Given the description of an element on the screen output the (x, y) to click on. 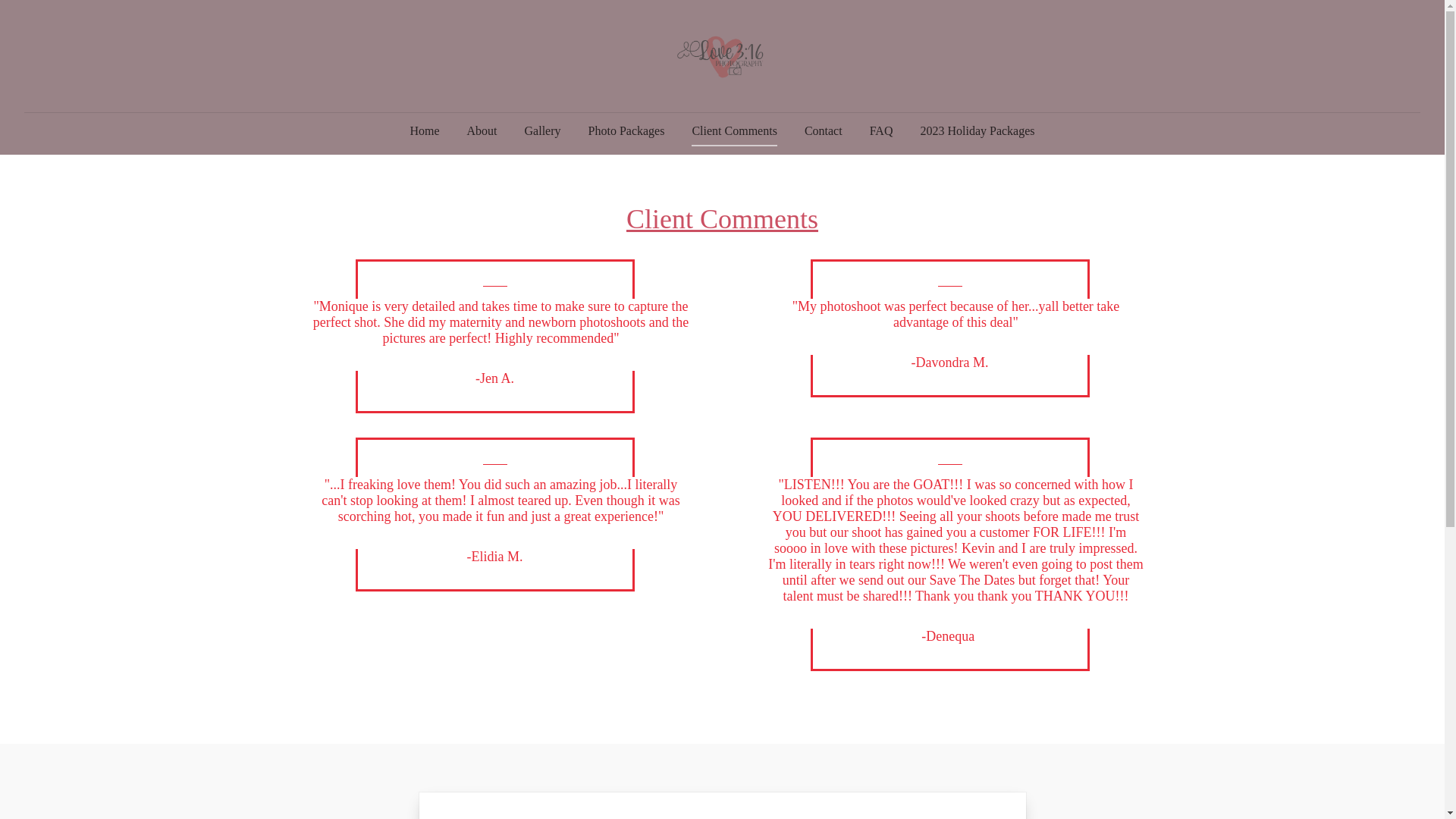
Photo Packages (626, 131)
About (481, 131)
Contact (823, 131)
2023 Holiday Packages (976, 131)
Home (424, 131)
FAQ (881, 131)
Gallery (542, 131)
Client Comments (734, 131)
